Given the description of an element on the screen output the (x, y) to click on. 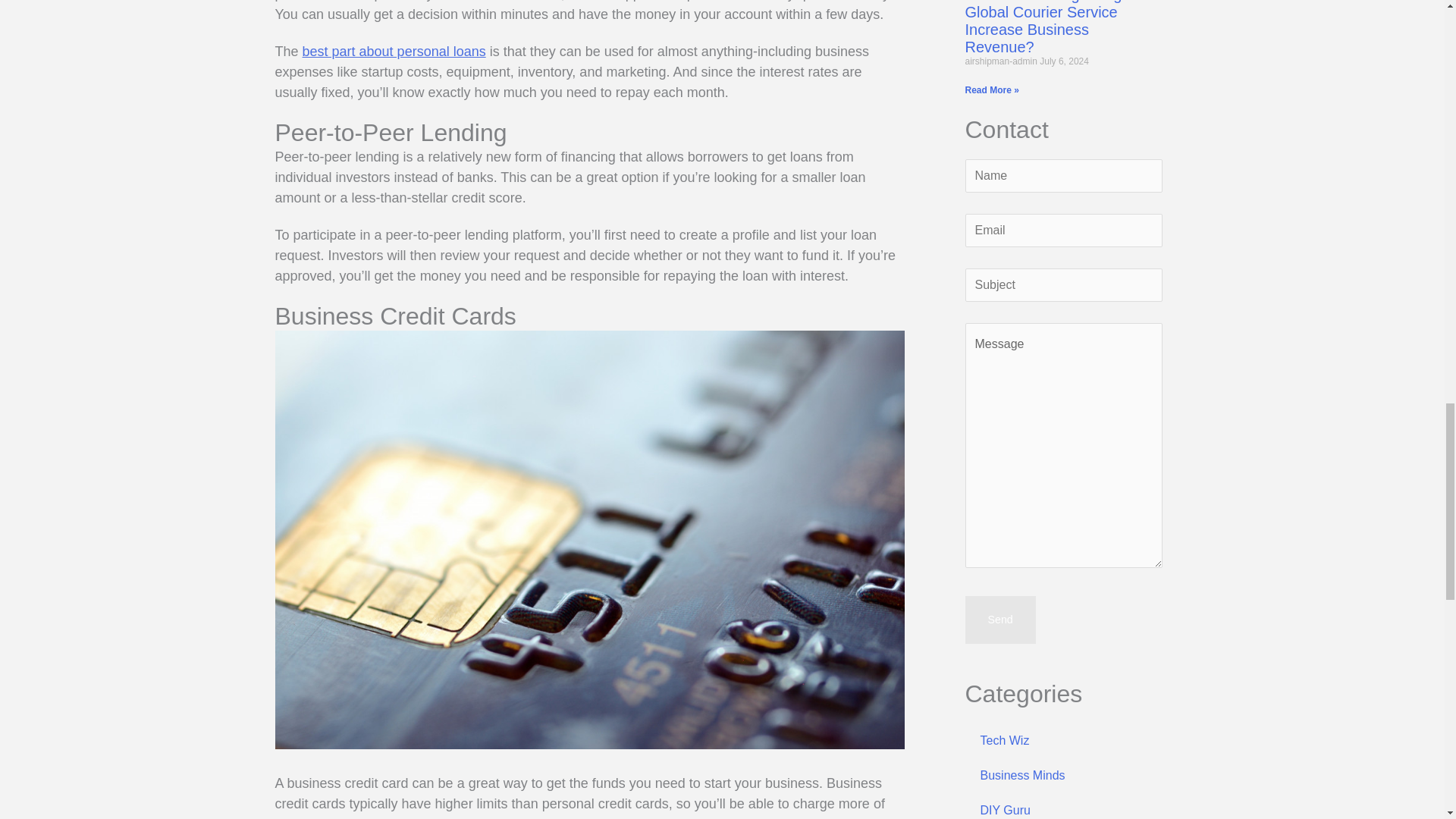
Business Minds (1062, 775)
DIY Guru (1062, 806)
Send (999, 619)
Tech Wiz (1062, 740)
best part about personal loans (394, 51)
Send (999, 619)
